Given the description of an element on the screen output the (x, y) to click on. 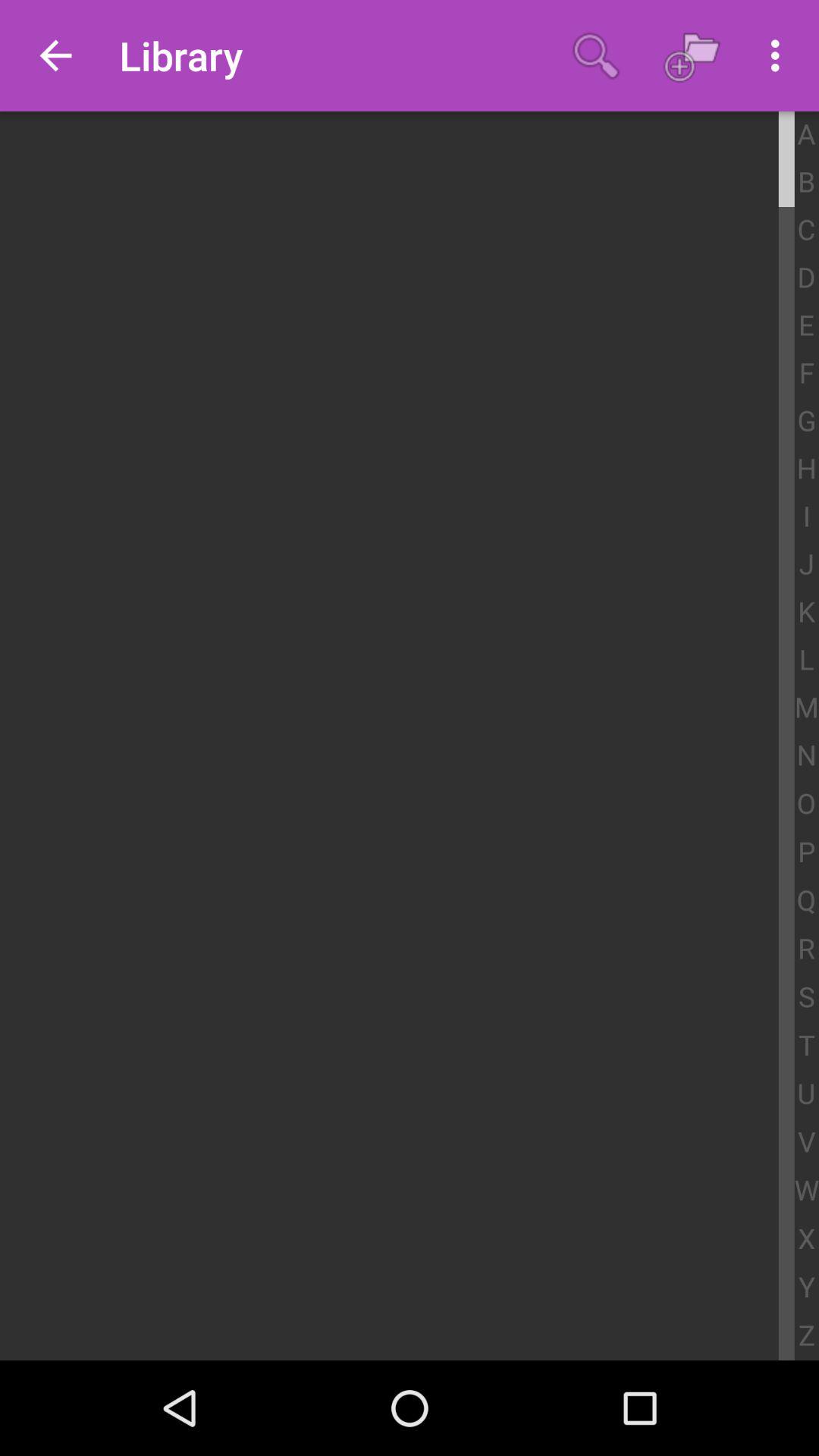
press the item above b icon (806, 135)
